Given the description of an element on the screen output the (x, y) to click on. 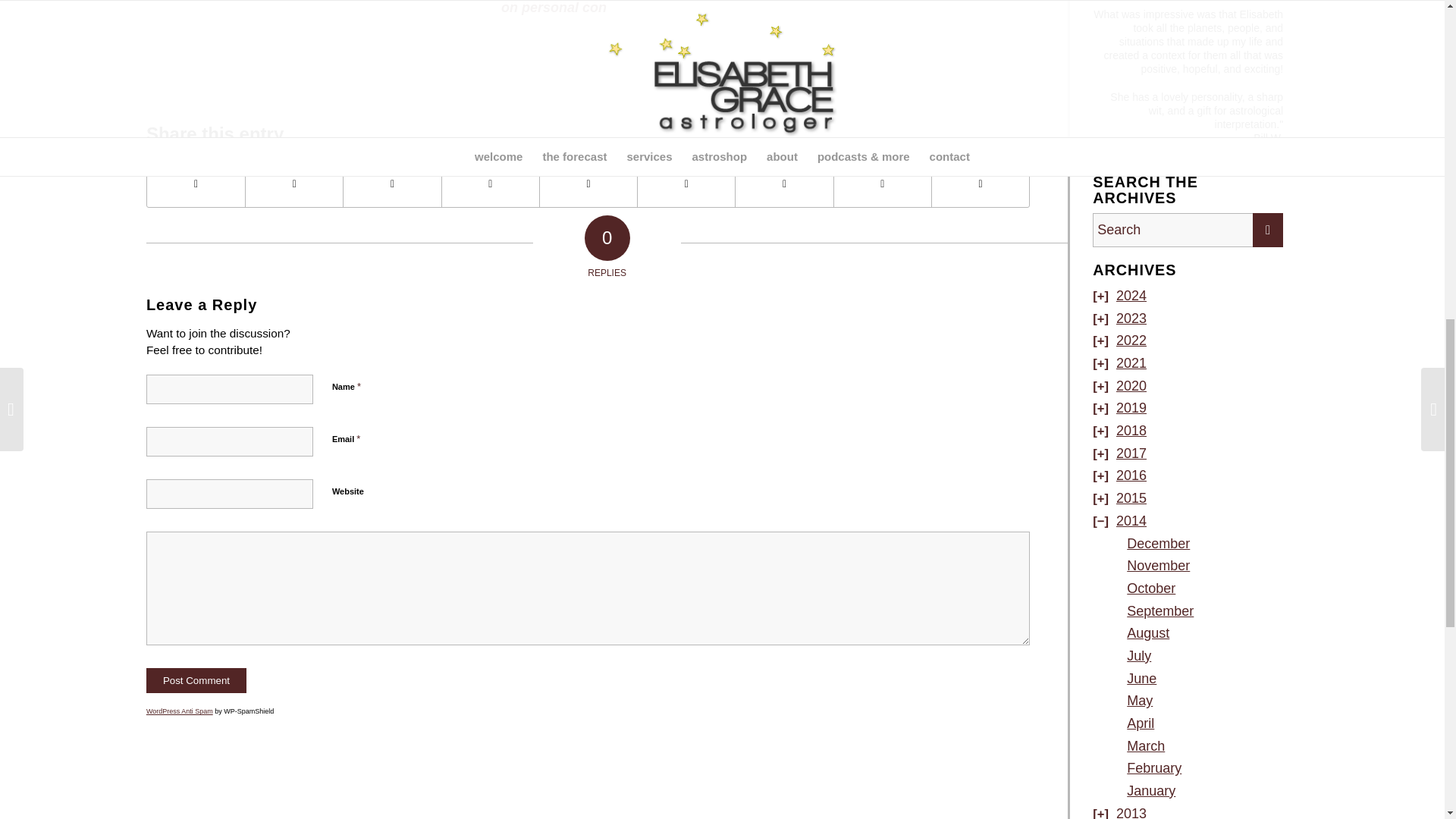
Post Comment (196, 680)
Post Comment (196, 680)
WordPress Anti Spam (179, 710)
WP-SpamShield WordPress Anti-Spam Plugin (179, 710)
